Given the description of an element on the screen output the (x, y) to click on. 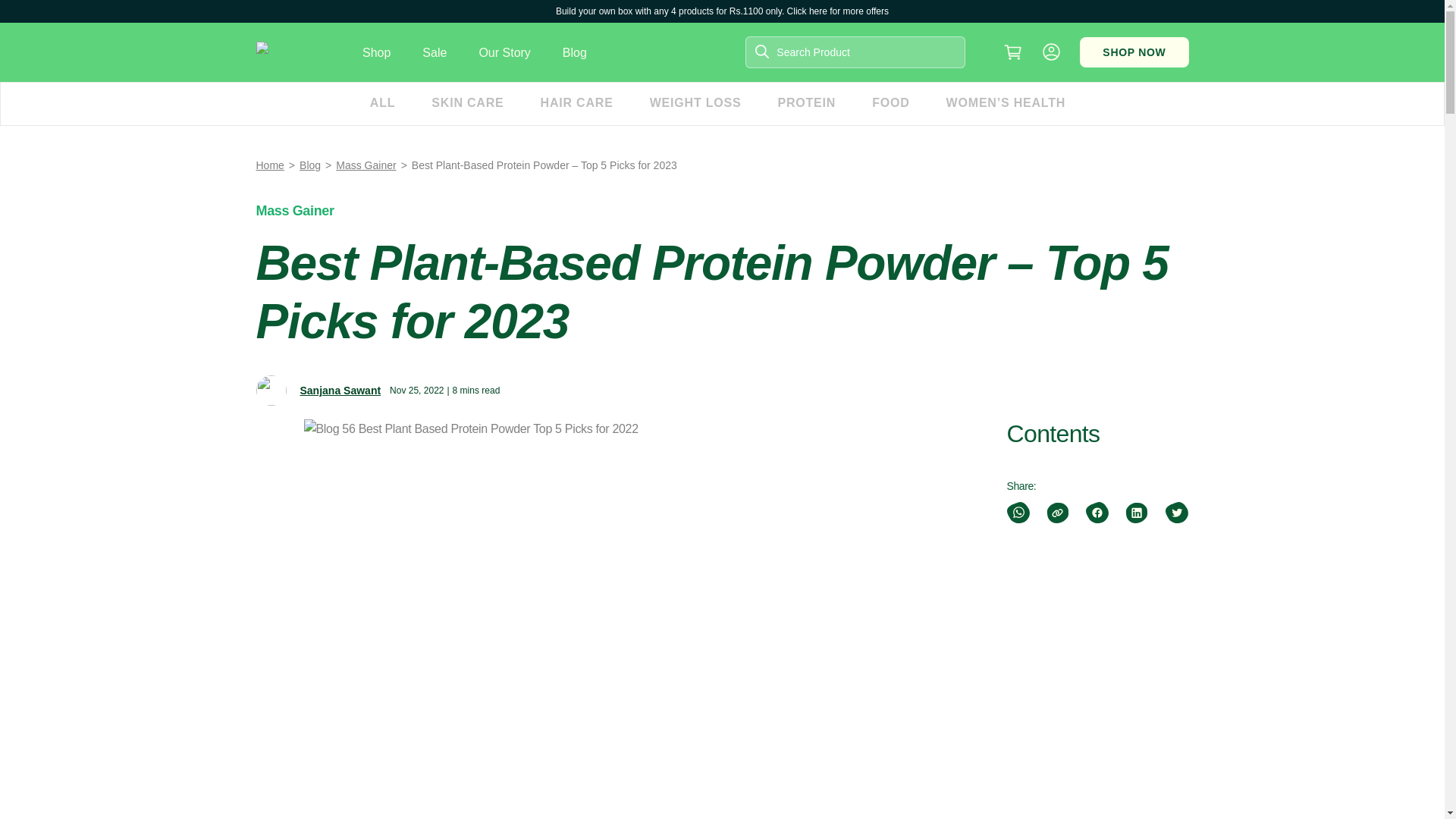
Our Story (504, 51)
Mass Gainer (366, 164)
linkedin (1136, 512)
SHOP NOW (1134, 51)
SKIN CARE (467, 103)
Home (269, 164)
twitter (1175, 512)
Sale (434, 51)
Mass Gainer (295, 210)
Sanjana Sawant (340, 389)
